Given the description of an element on the screen output the (x, y) to click on. 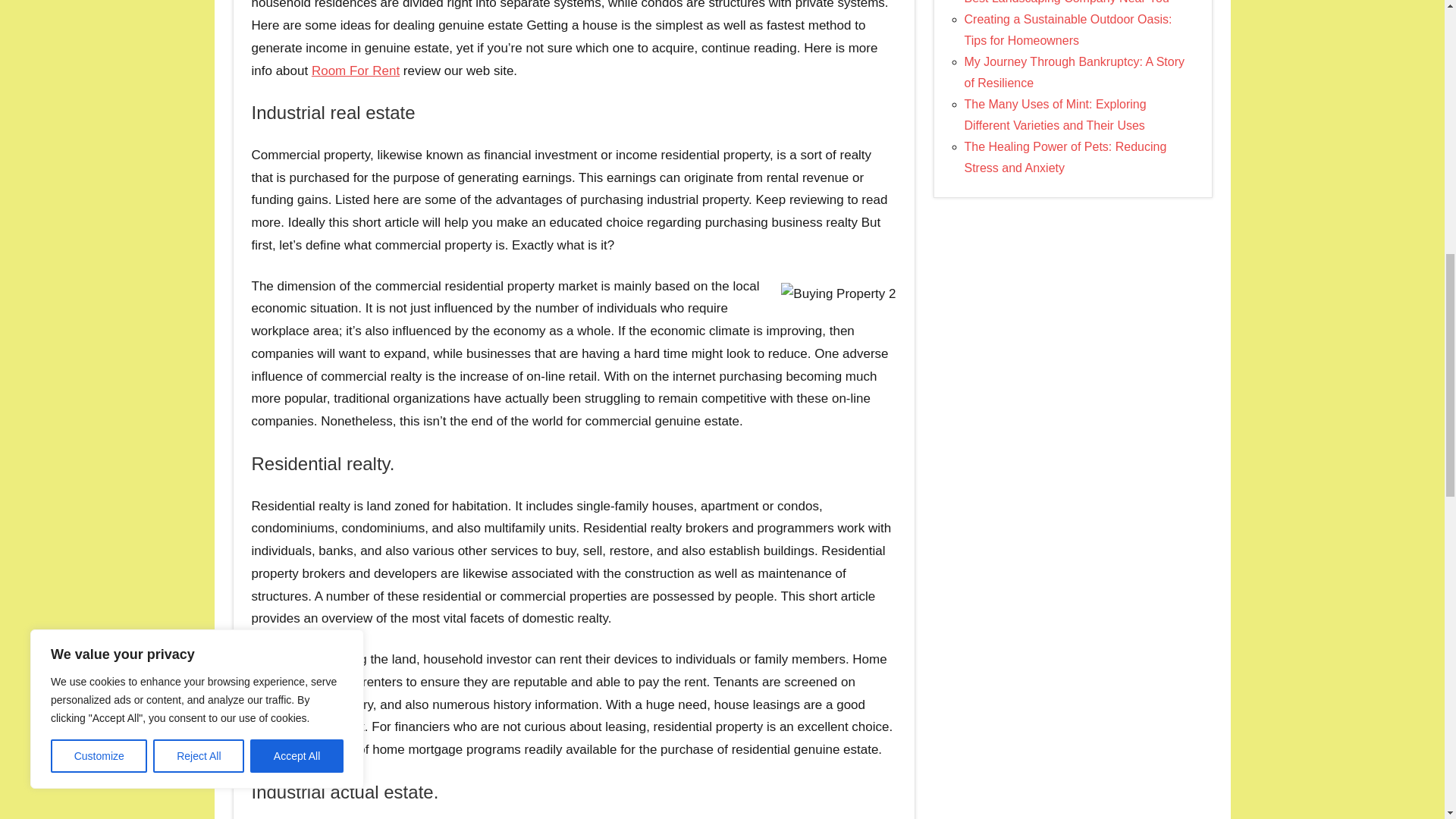
Room For Rent (354, 70)
